Given the description of an element on the screen output the (x, y) to click on. 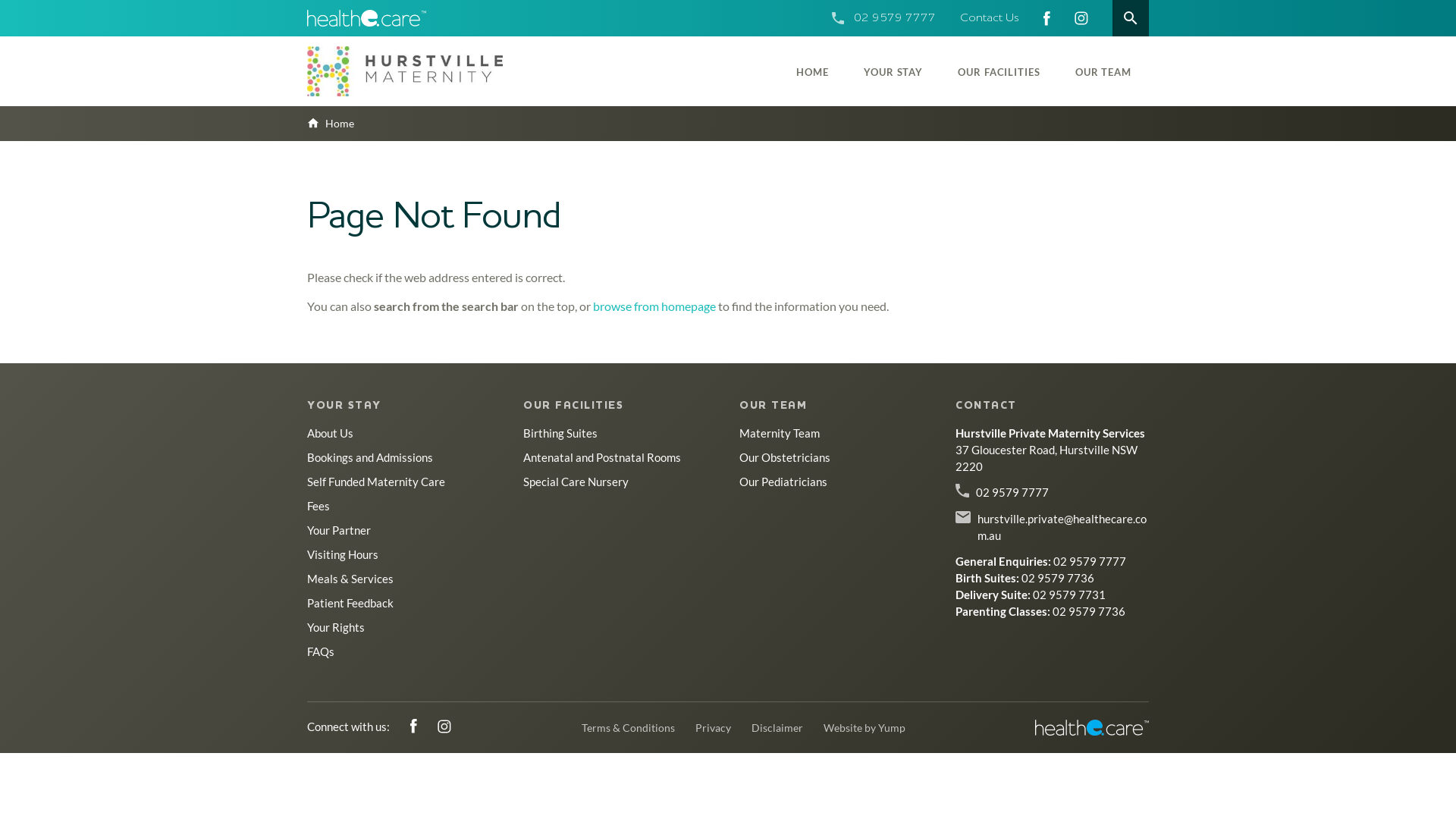
instagram page - hurstvilleprivatehospital Element type: text (1081, 18)
Disclaimer Element type: text (776, 727)
Antenatal and Postnatal Rooms Element type: text (601, 457)
Hurstville Private Maternity Element type: text (404, 71)
Special Care Nursery Element type: text (575, 481)
YOUR STAY Element type: text (893, 70)
Bookings and Admissions Element type: text (370, 457)
Maternity Team Element type: text (779, 432)
Fees Element type: text (318, 505)
OUR FACILITIES Element type: text (998, 70)
hurstville.private@healthecare.com.au Element type: text (1062, 526)
Birthing Suites Element type: text (560, 432)
Facebook page - hurstvilleprivate Element type: text (1046, 17)
Home Element type: text (330, 122)
02 9579 7777 Element type: text (1011, 491)
Contact Us Element type: text (989, 18)
Visiting Hours Element type: text (342, 554)
About Us Element type: text (330, 432)
Your Partner Element type: text (338, 529)
Website by Yump Element type: text (864, 727)
Meals & Services Element type: text (350, 578)
Self Funded Maternity Care Element type: text (376, 481)
OUR FACILITIES Element type: text (573, 405)
Facebook page - hurstvilleprivate Element type: text (414, 726)
02 9579 7777 Element type: text (894, 18)
HOME Element type: text (812, 70)
Terms & Conditions Element type: text (627, 727)
Our Pediatricians Element type: text (783, 481)
Our Obstetricians Element type: text (784, 457)
Privacy Element type: text (712, 727)
browse from homepage Element type: text (654, 305)
OUR TEAM Element type: text (772, 405)
instagram page - hurstvilleprivatehospital Element type: text (444, 726)
Patient Feedback Element type: text (350, 602)
FAQs Element type: text (320, 651)
YOUR STAY Element type: text (344, 405)
OUR TEAM Element type: text (1102, 70)
Your Rights Element type: text (335, 626)
